Given the description of an element on the screen output the (x, y) to click on. 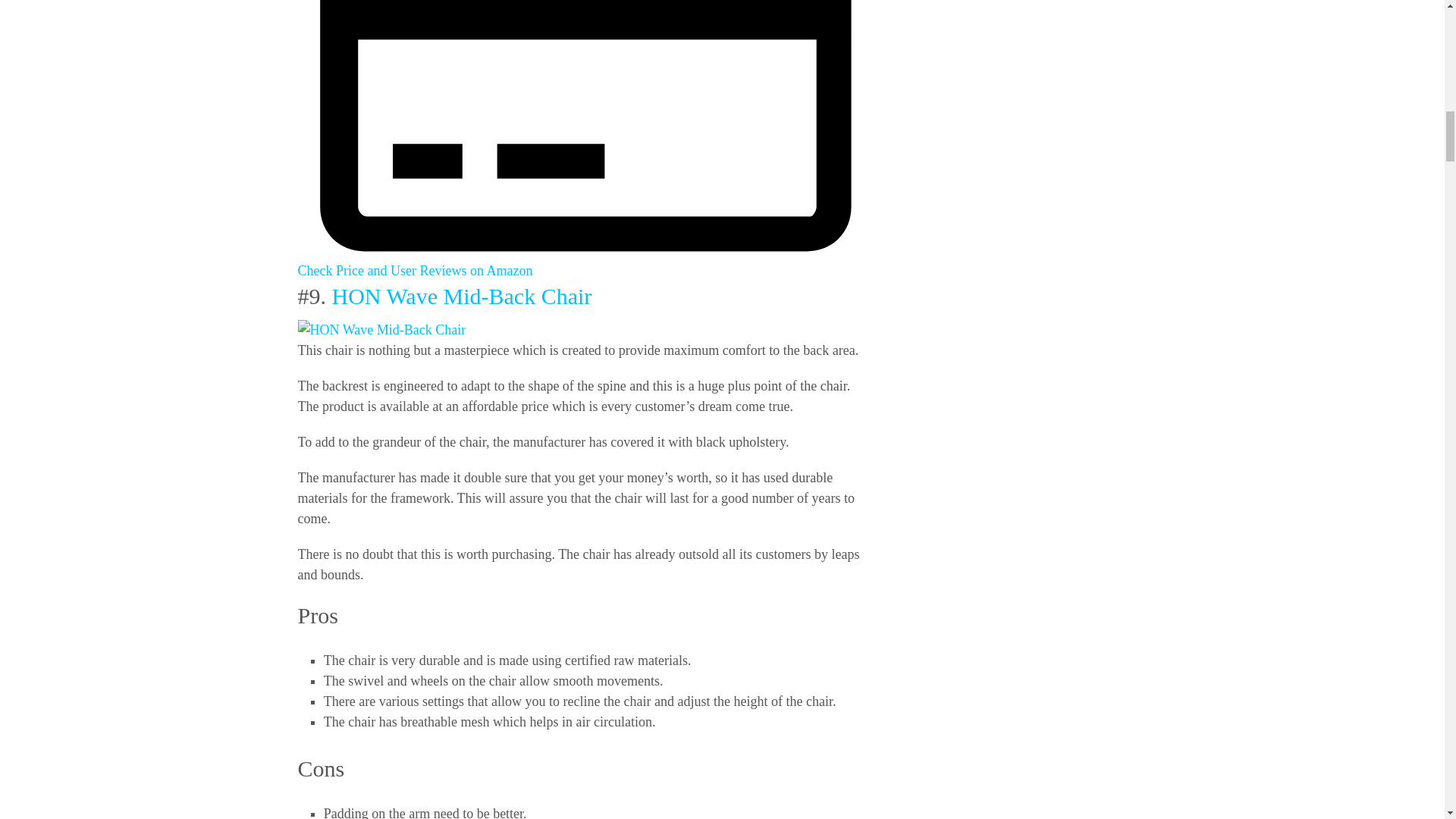
HON Wave Mid-Back Chair (381, 330)
